Given the description of an element on the screen output the (x, y) to click on. 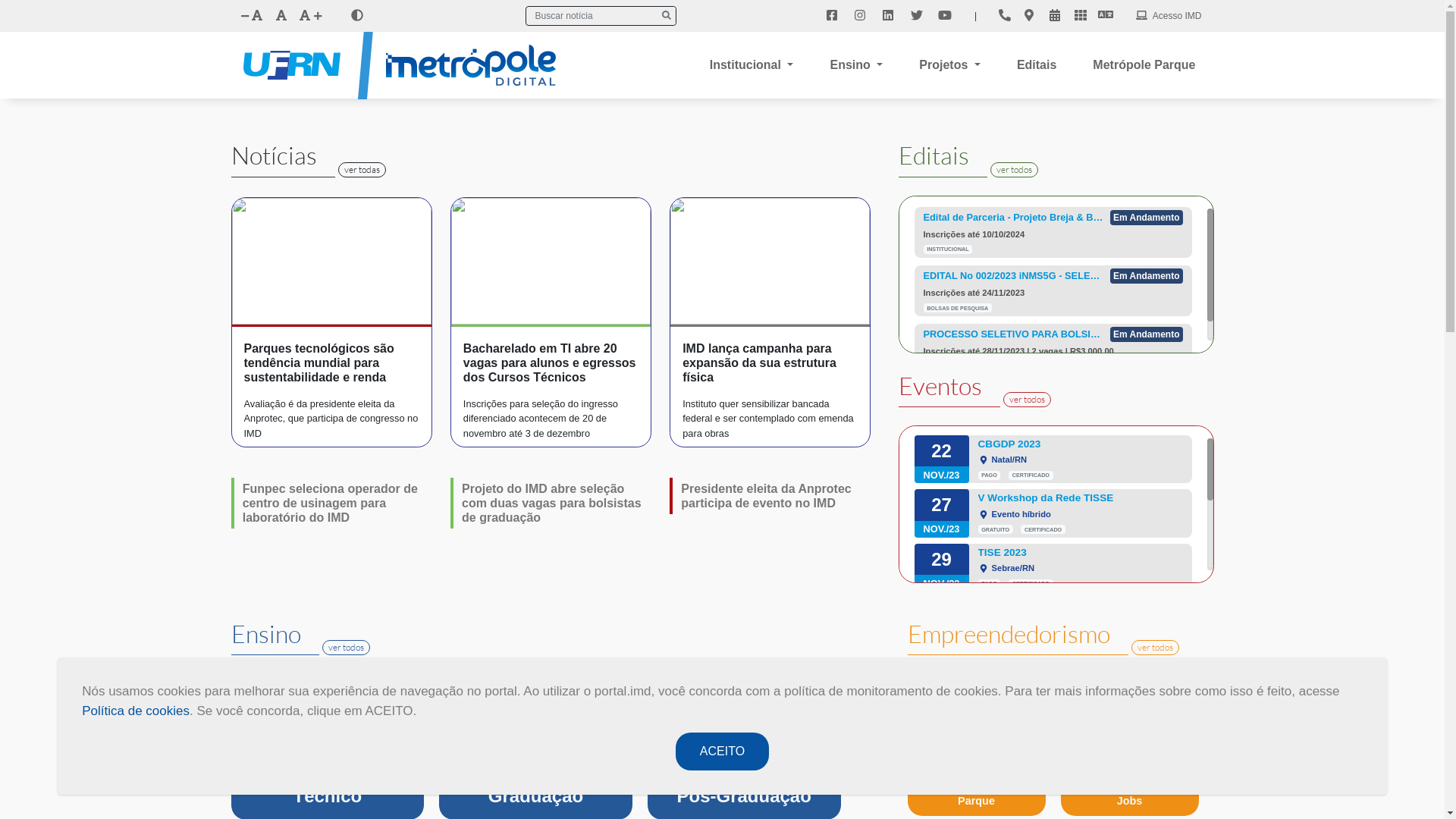
Jerimum
Jobs Element type: text (1129, 794)
ver todos Element type: text (1155, 647)
PES Element type: text (536, 796)
Ensino Element type: text (855, 65)
Editais Element type: text (1036, 65)
Presidente eleita da Anprotec participa de evento no IMD Element type: text (765, 495)
ver todos Element type: text (1014, 169)
CBGDP 2023 Element type: text (1080, 444)
ver todos Element type: text (1026, 399)
MOOC Element type: text (743, 796)
Projetos Element type: text (949, 65)
TISE 2023 Element type: text (1080, 552)
Eventos Element type: hover (1054, 15)
Contato Element type: hover (1004, 15)
Edital de Parceria - Projeto Breja & Business Element type: text (1013, 217)
ver todos Element type: text (345, 647)
Breja & Business Element type: text (1080, 606)
Acesso IMD Element type: text (1174, 15)
ACEITO Element type: text (721, 751)
Sistemas Element type: hover (1080, 15)
ver todas Element type: text (361, 169)
V Workshop da Rede TISSE Element type: text (1080, 498)
Institucional Element type: text (751, 65)
